Given the description of an element on the screen output the (x, y) to click on. 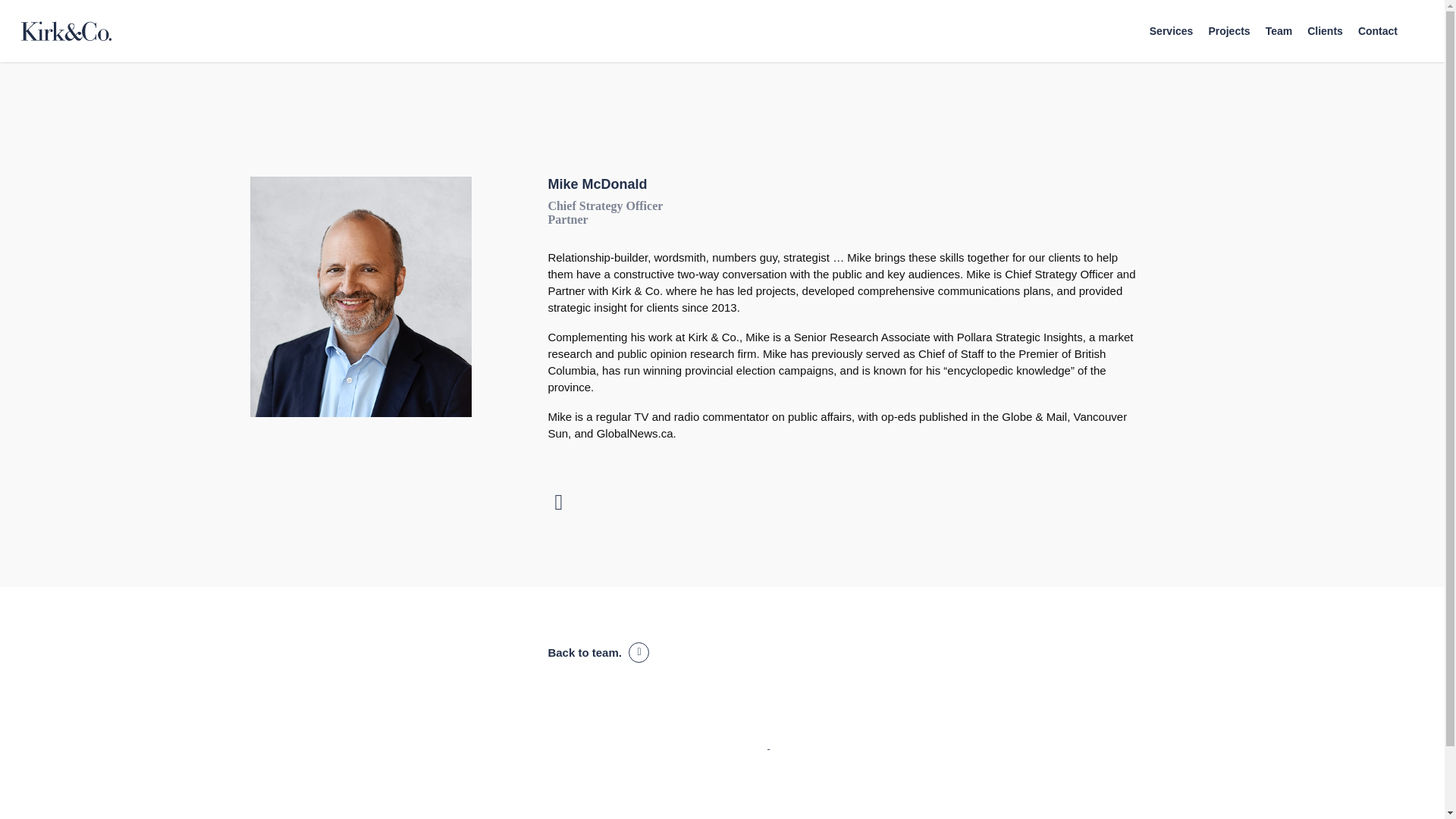
Menu (1415, 7)
Team (1278, 30)
Back to team. (598, 652)
Services (1171, 30)
Contact (1377, 30)
Clients (1324, 30)
Projects (1228, 30)
